Given the description of an element on the screen output the (x, y) to click on. 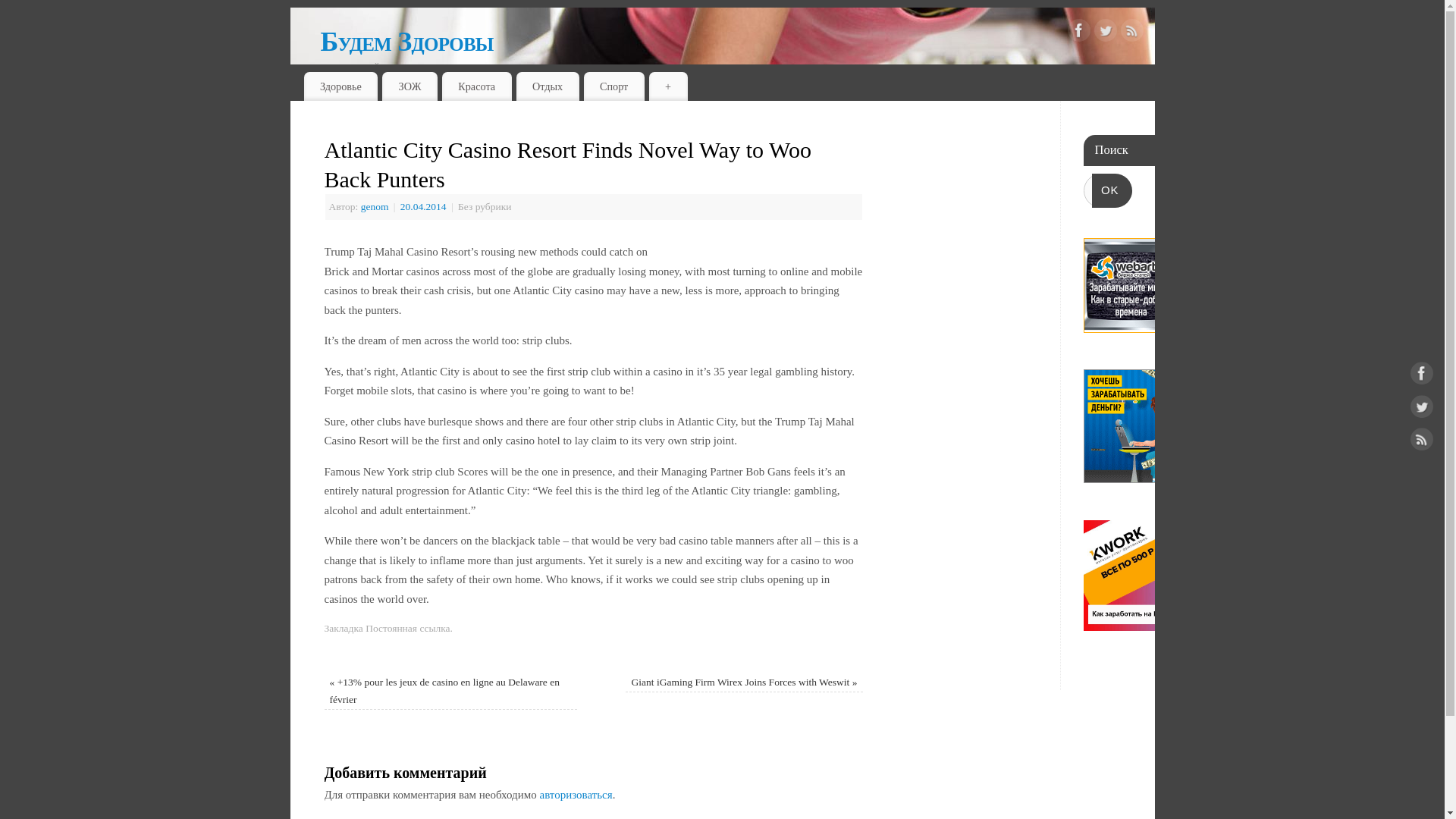
20.04.2014 (424, 206)
00:53 (424, 206)
genom (374, 206)
OK (1112, 190)
